Given the description of an element on the screen output the (x, y) to click on. 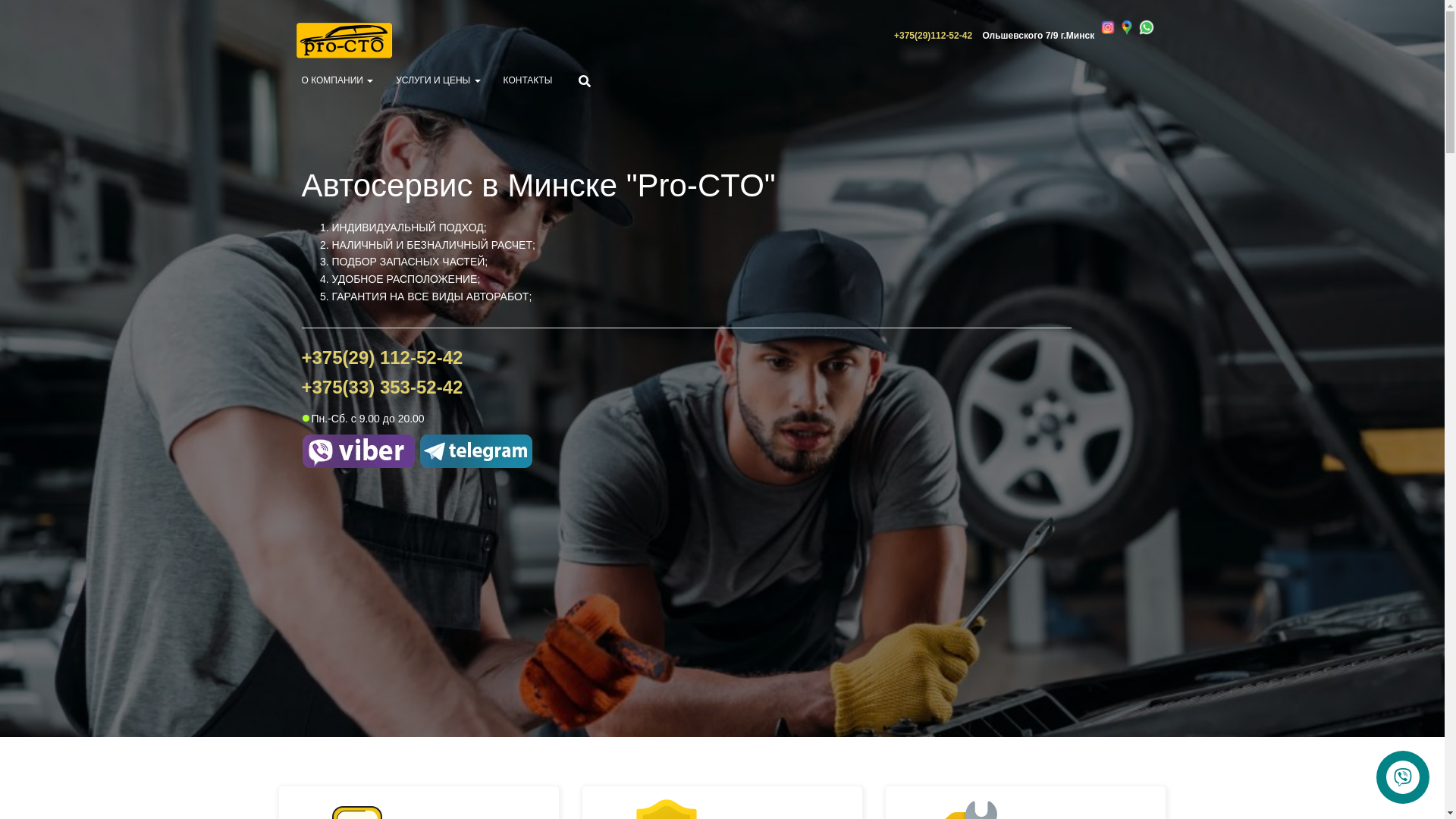
+375(29)112-52-42 Element type: text (933, 35)
+375(33) 353-52-42 Element type: text (382, 386)
+375(29) 112-52-42 Element type: text (382, 357)
